Given the description of an element on the screen output the (x, y) to click on. 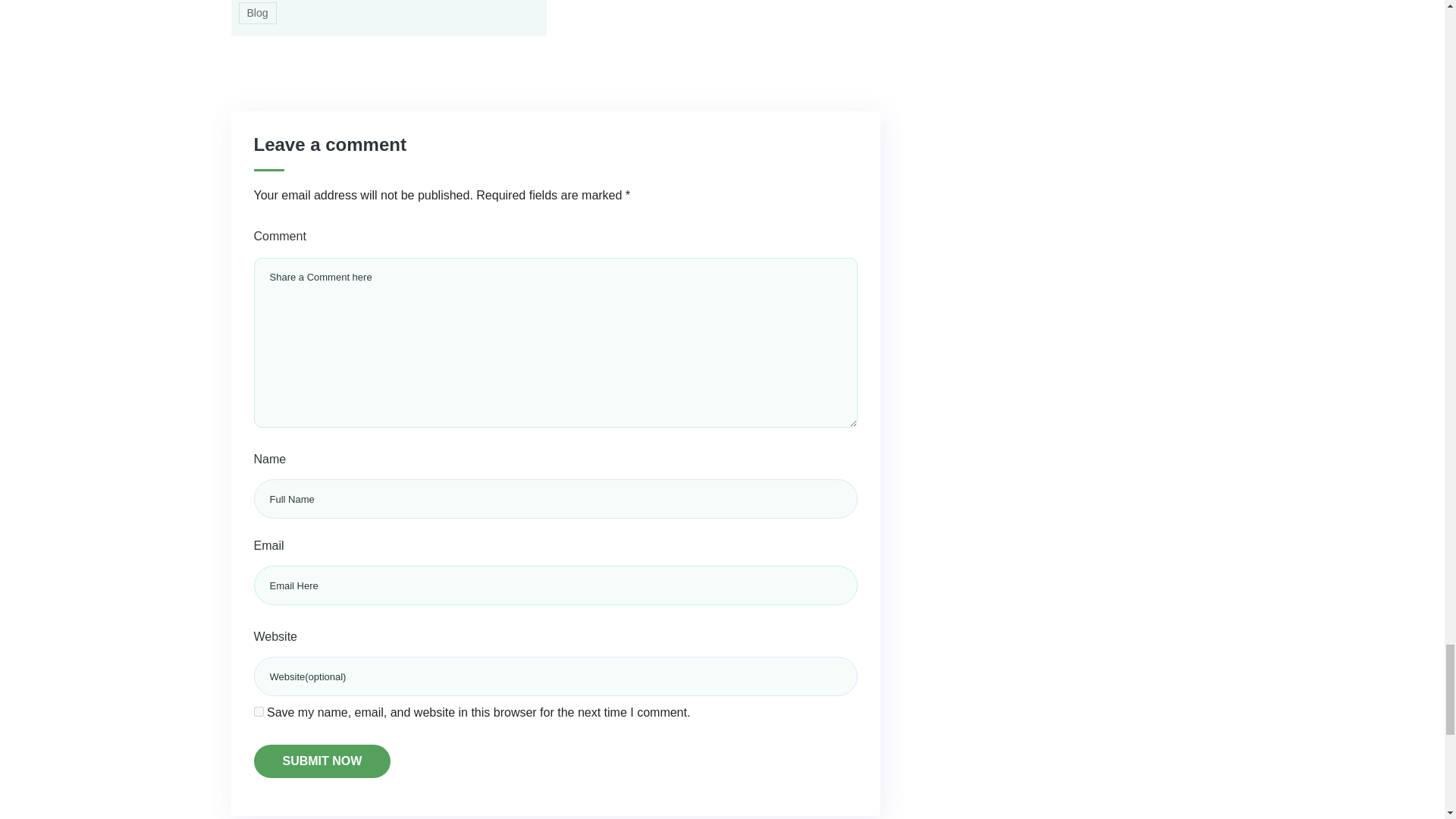
yes (258, 711)
Submit Now (321, 761)
